Given the description of an element on the screen output the (x, y) to click on. 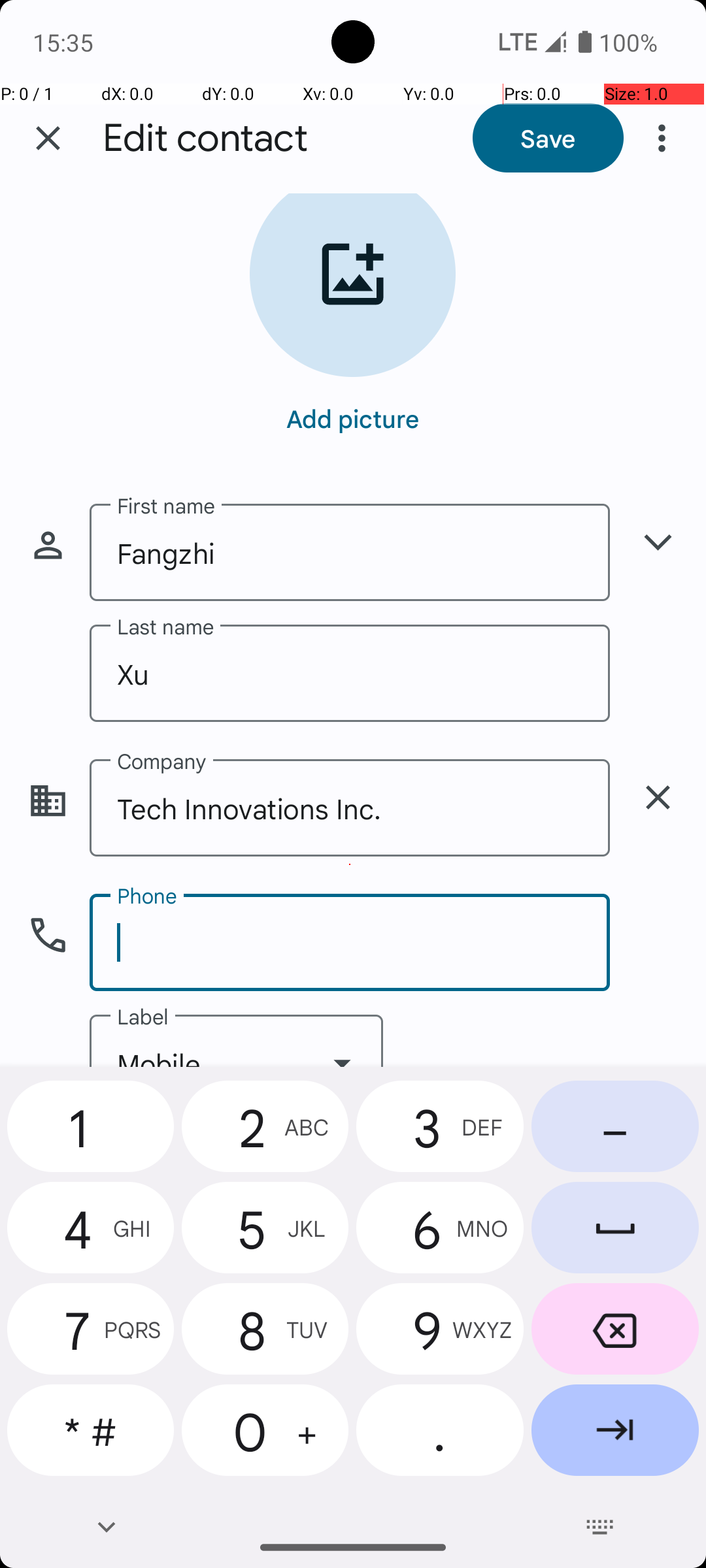
Edit contact Element type: android.widget.TextView (205, 138)
Add picture Element type: android.widget.Button (352, 417)
Fangzhi Element type: android.widget.EditText (349, 552)
Xu Element type: android.widget.EditText (349, 672)
Tech Innovations Inc. Element type: android.widget.EditText (349, 807)
Delete Organization Element type: android.widget.FrameLayout (657, 797)
delete Element type: android.widget.ImageView (657, 797)
